Given the description of an element on the screen output the (x, y) to click on. 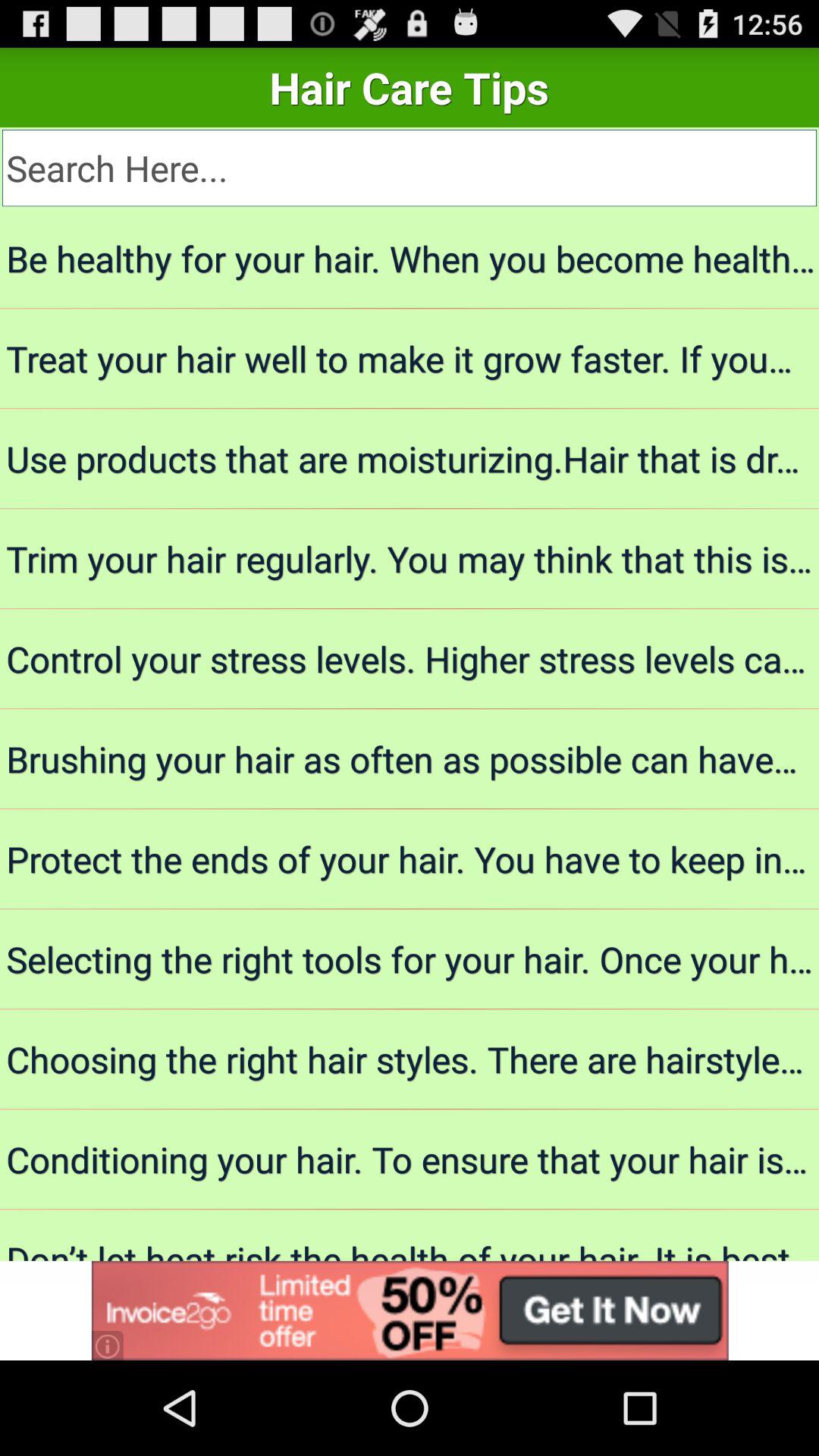
advertisement (409, 1310)
